Given the description of an element on the screen output the (x, y) to click on. 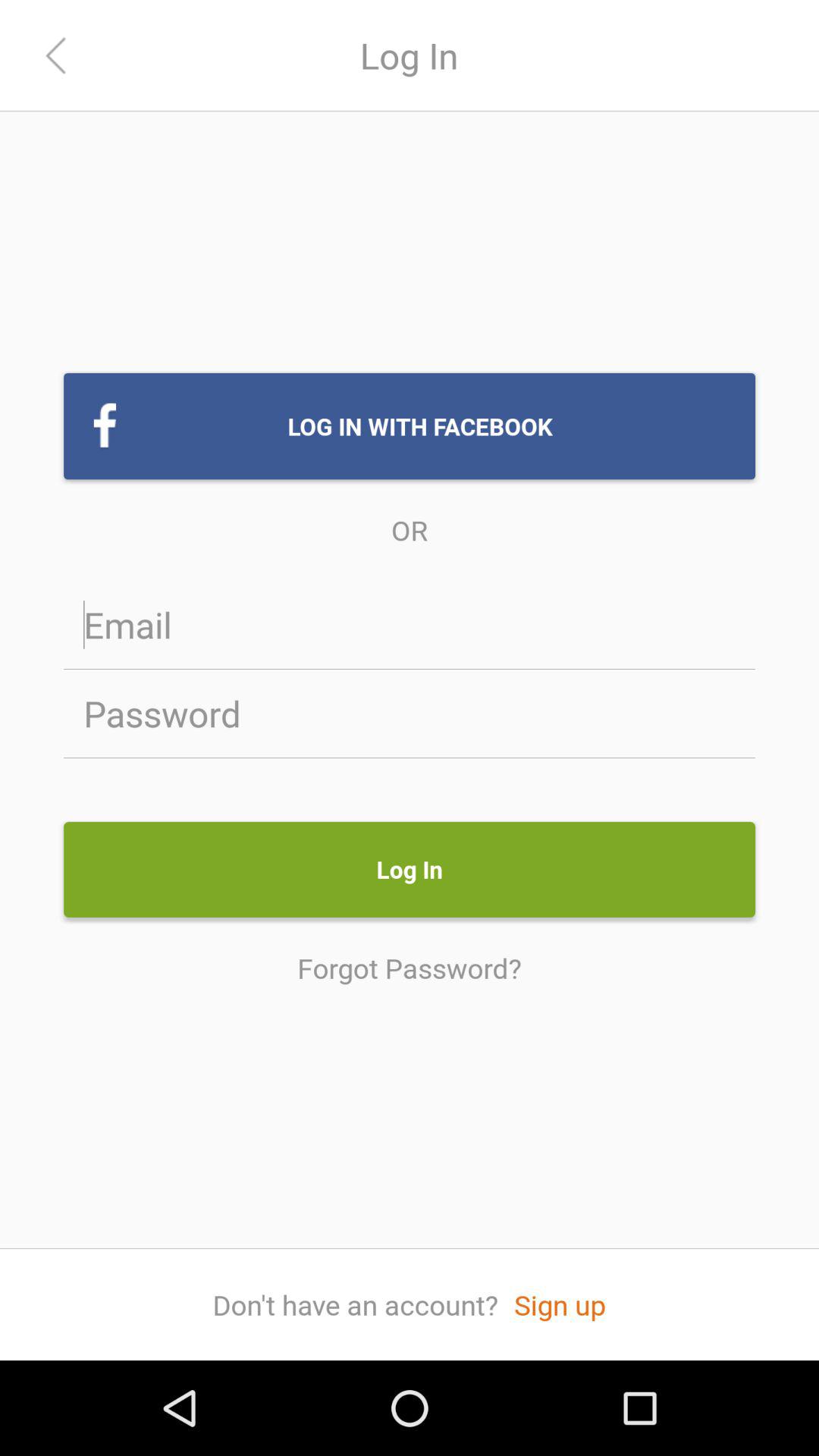
password field (409, 713)
